Given the description of an element on the screen output the (x, y) to click on. 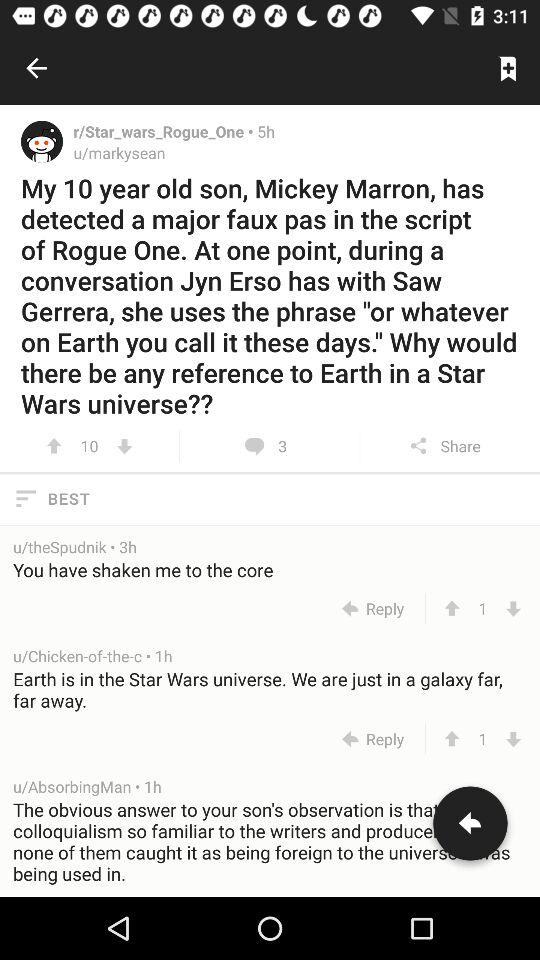
down vote (124, 446)
